Given the description of an element on the screen output the (x, y) to click on. 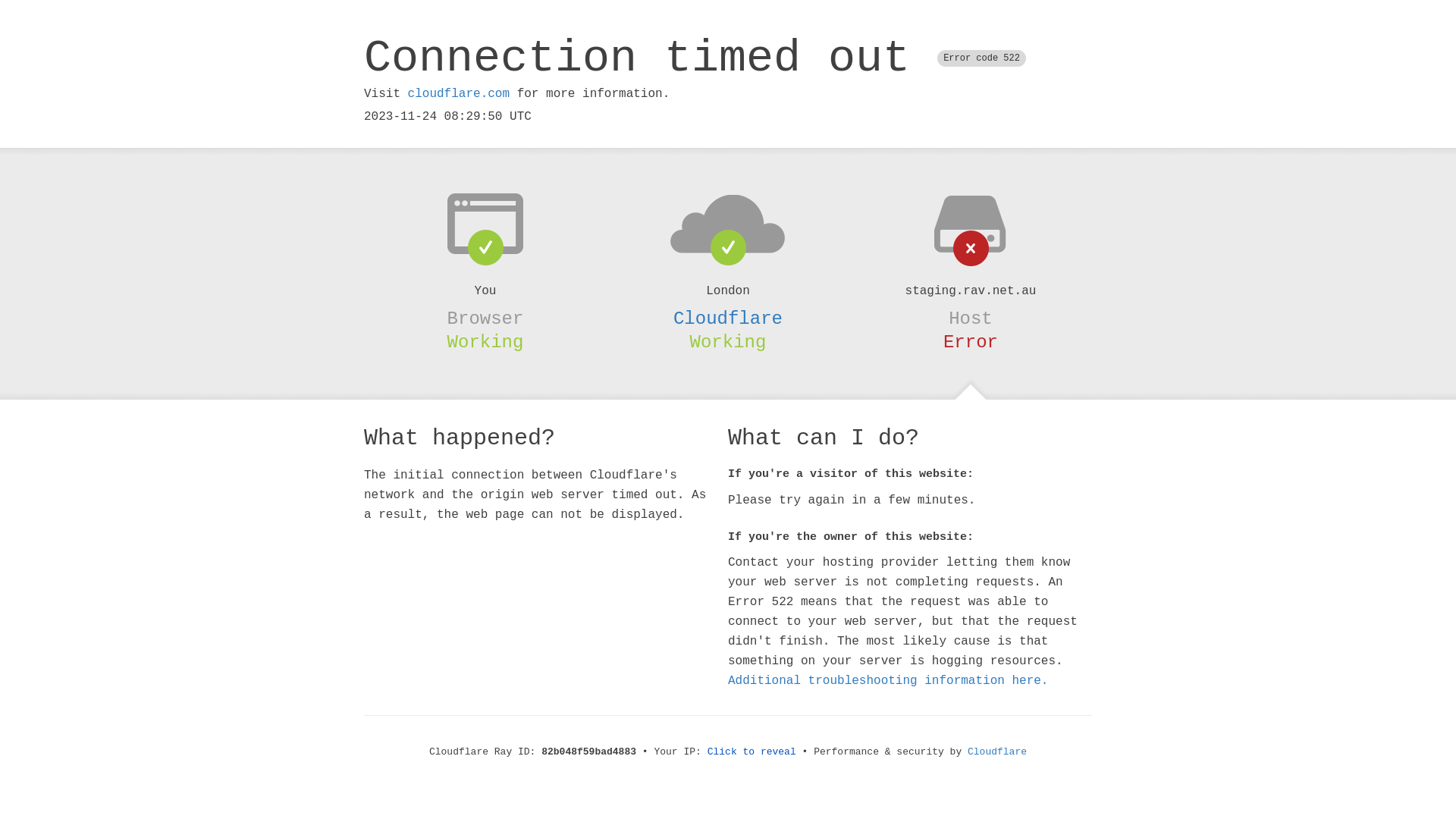
Click to reveal Element type: text (751, 751)
Cloudflare Element type: text (727, 318)
cloudflare.com Element type: text (458, 93)
Cloudflare Element type: text (996, 751)
Additional troubleshooting information here. Element type: text (888, 680)
